Given the description of an element on the screen output the (x, y) to click on. 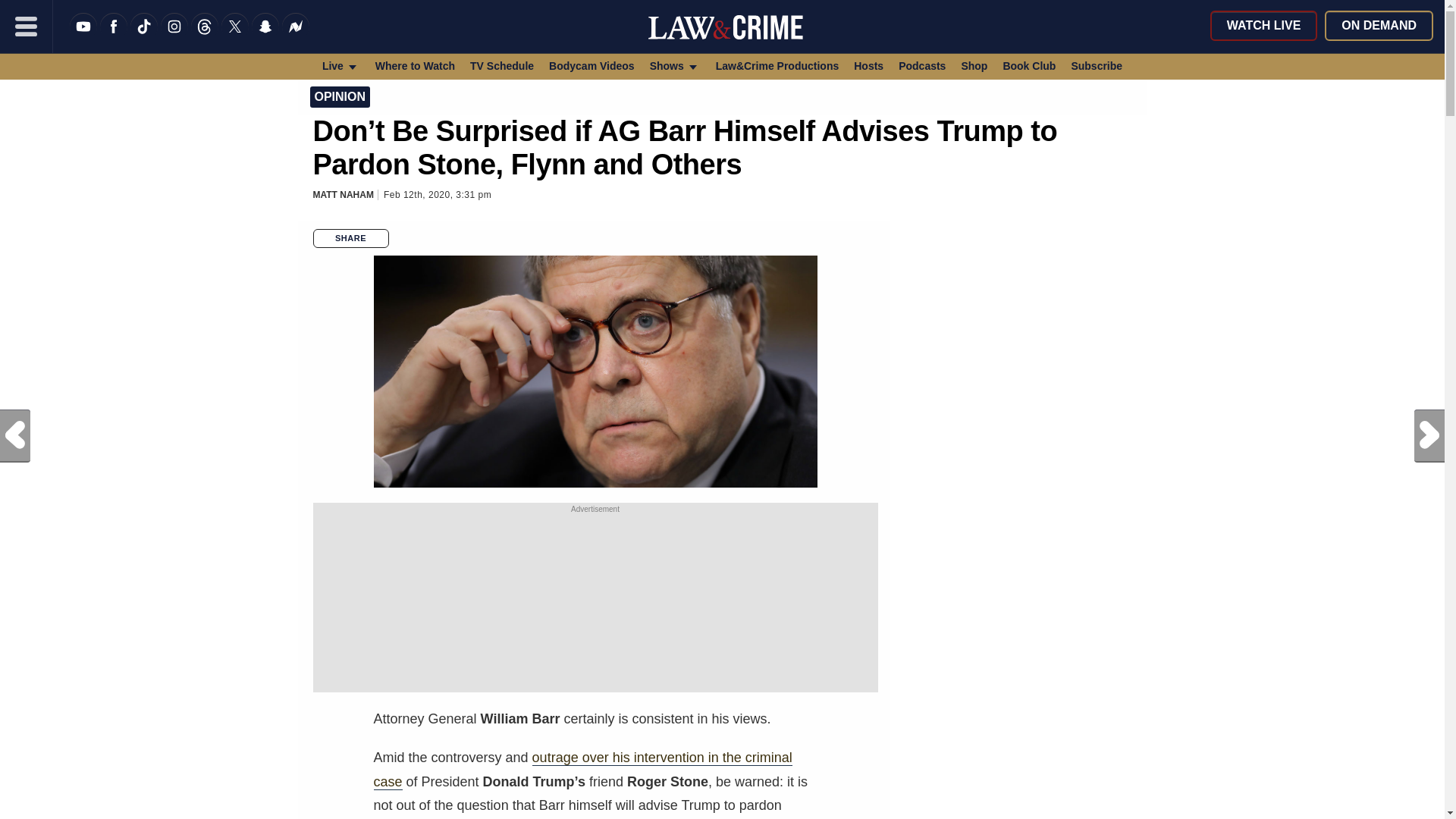
Posts by Matt Naham (342, 194)
TikTok (144, 35)
News Break (295, 35)
YouTube (83, 35)
Like us on Facebook (114, 35)
Instagram (173, 35)
Snapchat (265, 35)
Threads (204, 35)
